Given the description of an element on the screen output the (x, y) to click on. 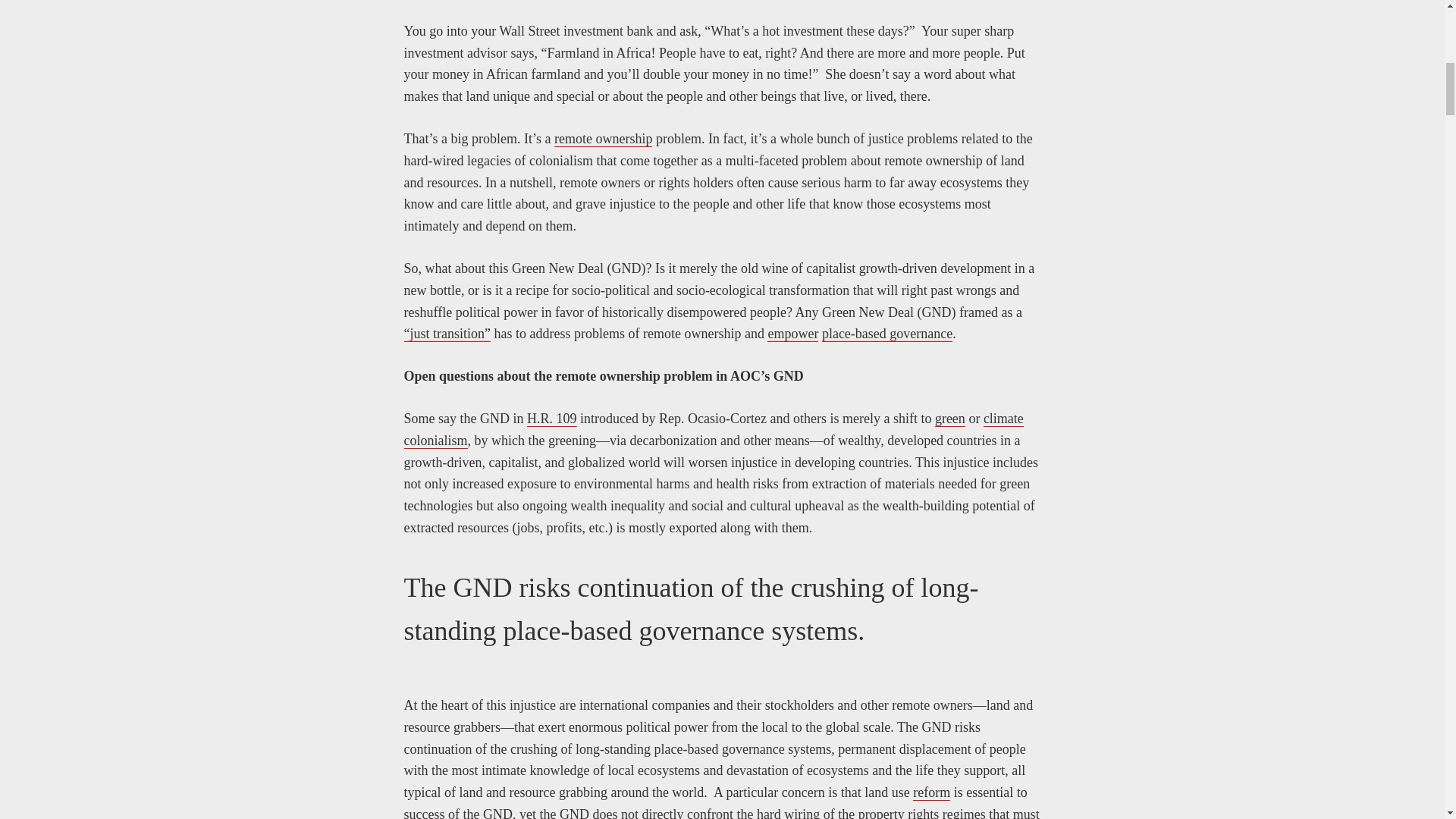
climate colonialism (713, 429)
place-based governance (887, 333)
reform (931, 792)
remote ownership (603, 139)
empower (792, 333)
green (949, 418)
H.R. 109 (551, 418)
